Given the description of an element on the screen output the (x, y) to click on. 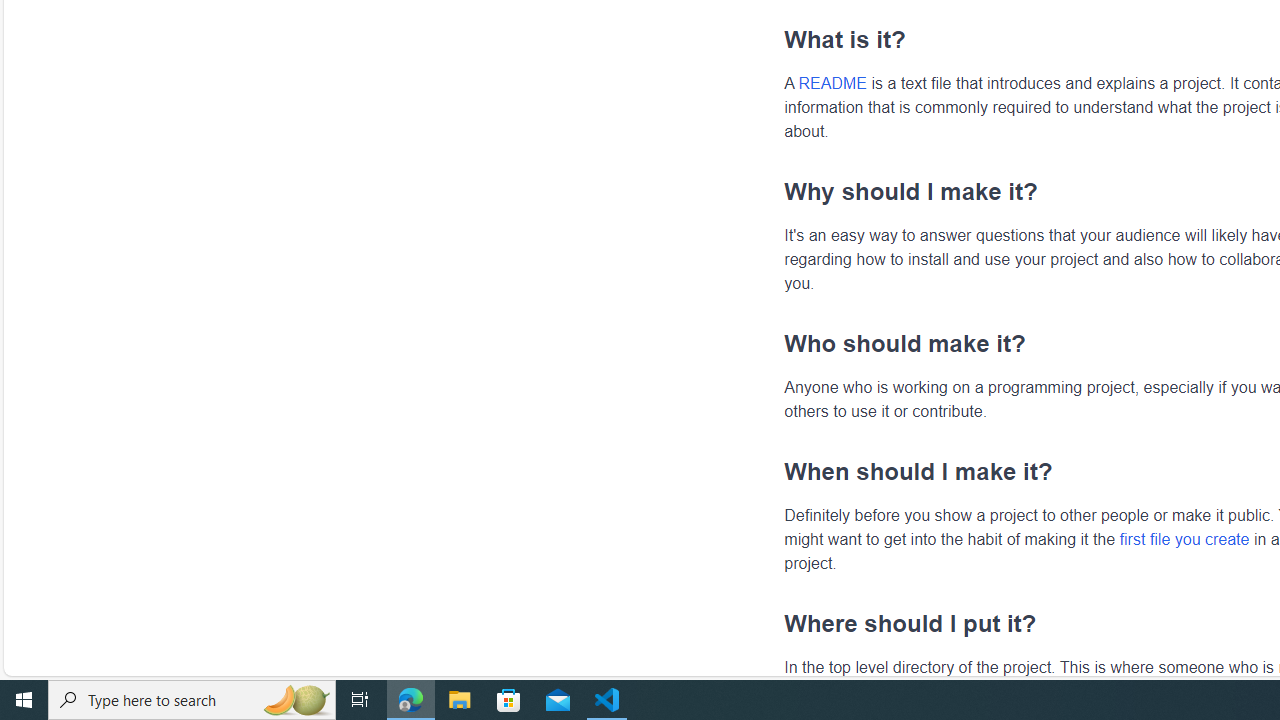
Anchor (774, 623)
first file you create (1184, 538)
README (831, 83)
